Given the description of an element on the screen output the (x, y) to click on. 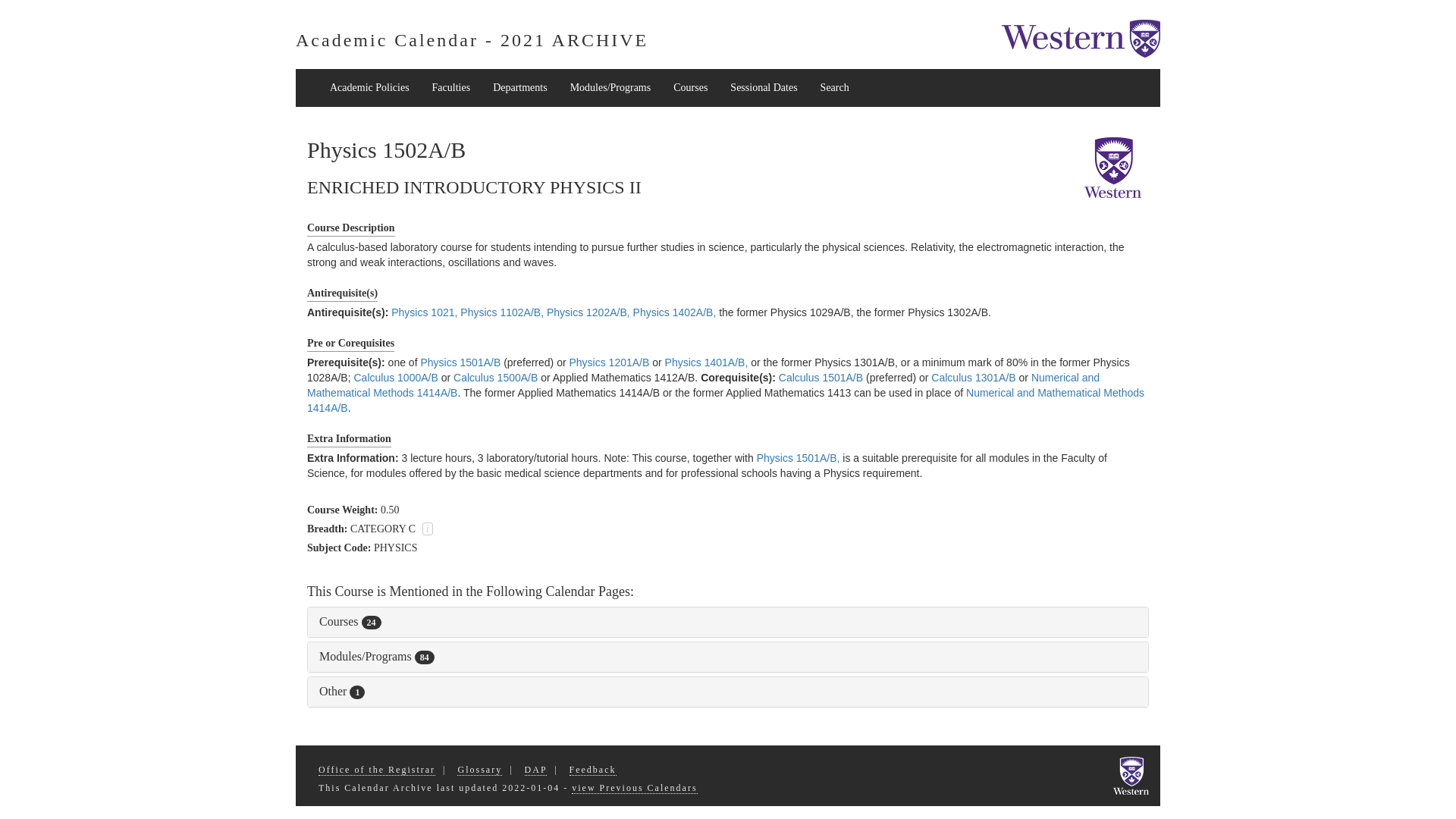
Academic Calendar - 2021 ARCHIVE (471, 39)
Courses 24 (349, 621)
Physics 1021, (424, 312)
Search (834, 87)
Courses (690, 87)
Sessional Dates (763, 87)
Faculties (450, 87)
Academic Policies (369, 87)
Departments (520, 87)
